Given the description of an element on the screen output the (x, y) to click on. 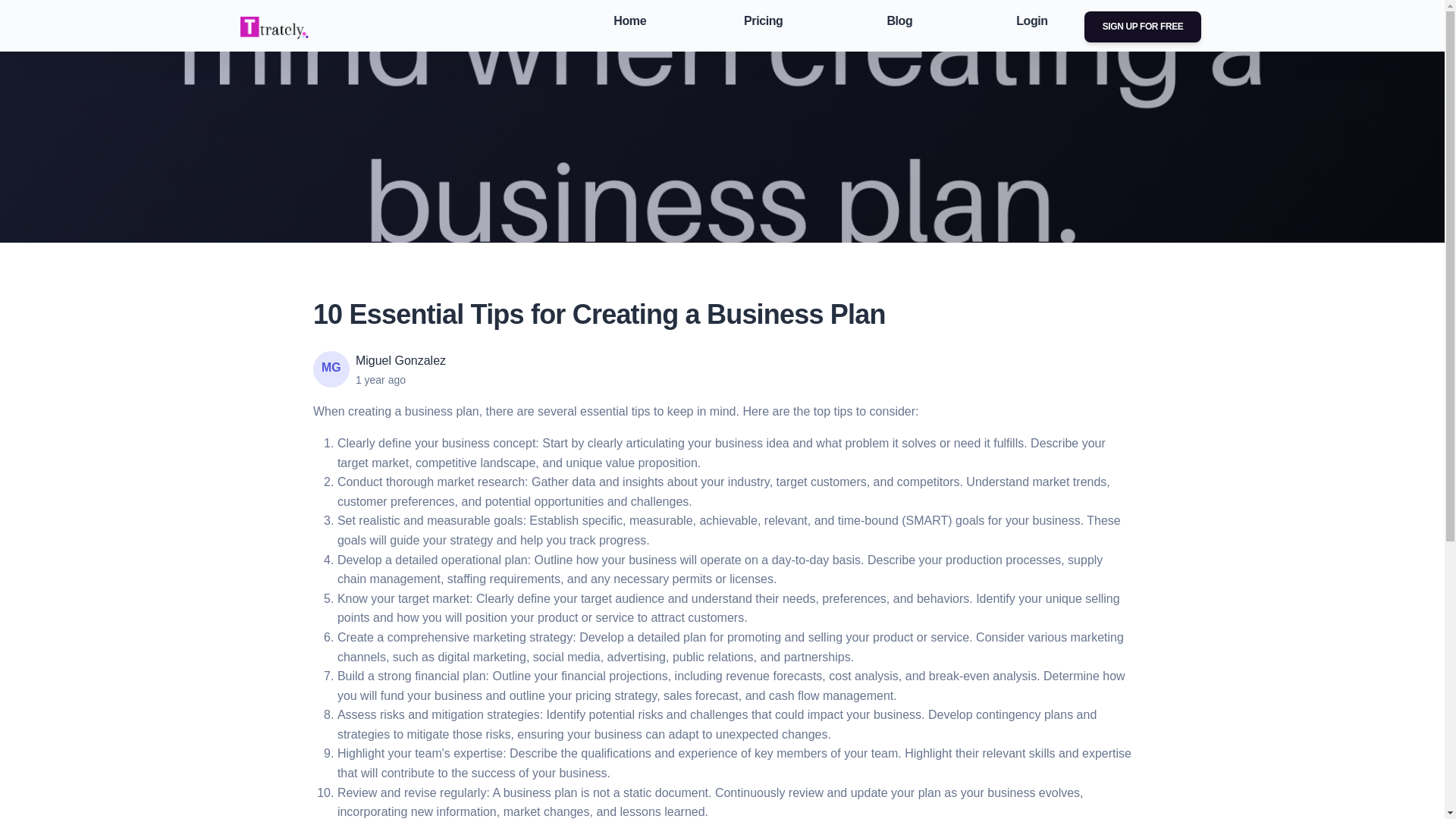
Home (626, 21)
Login (1029, 21)
SIGN UP FOR FREE (1143, 26)
Blog (896, 21)
Pricing (760, 21)
